Given the description of an element on the screen output the (x, y) to click on. 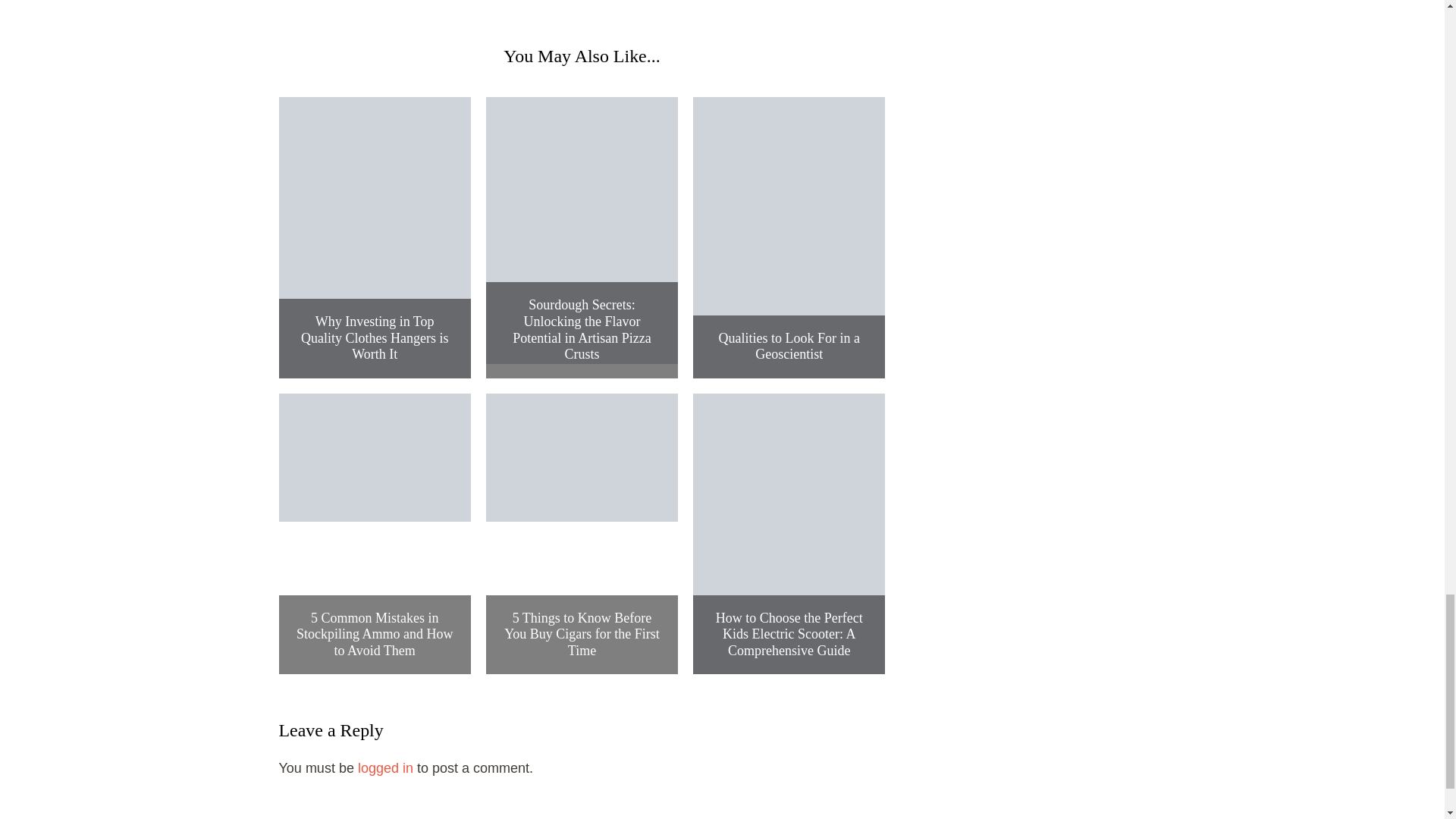
Qualities to Look For in a Geoscientist (788, 346)
Why Investing in Top Quality Clothes Hangers is Worth It (374, 338)
